Given the description of an element on the screen output the (x, y) to click on. 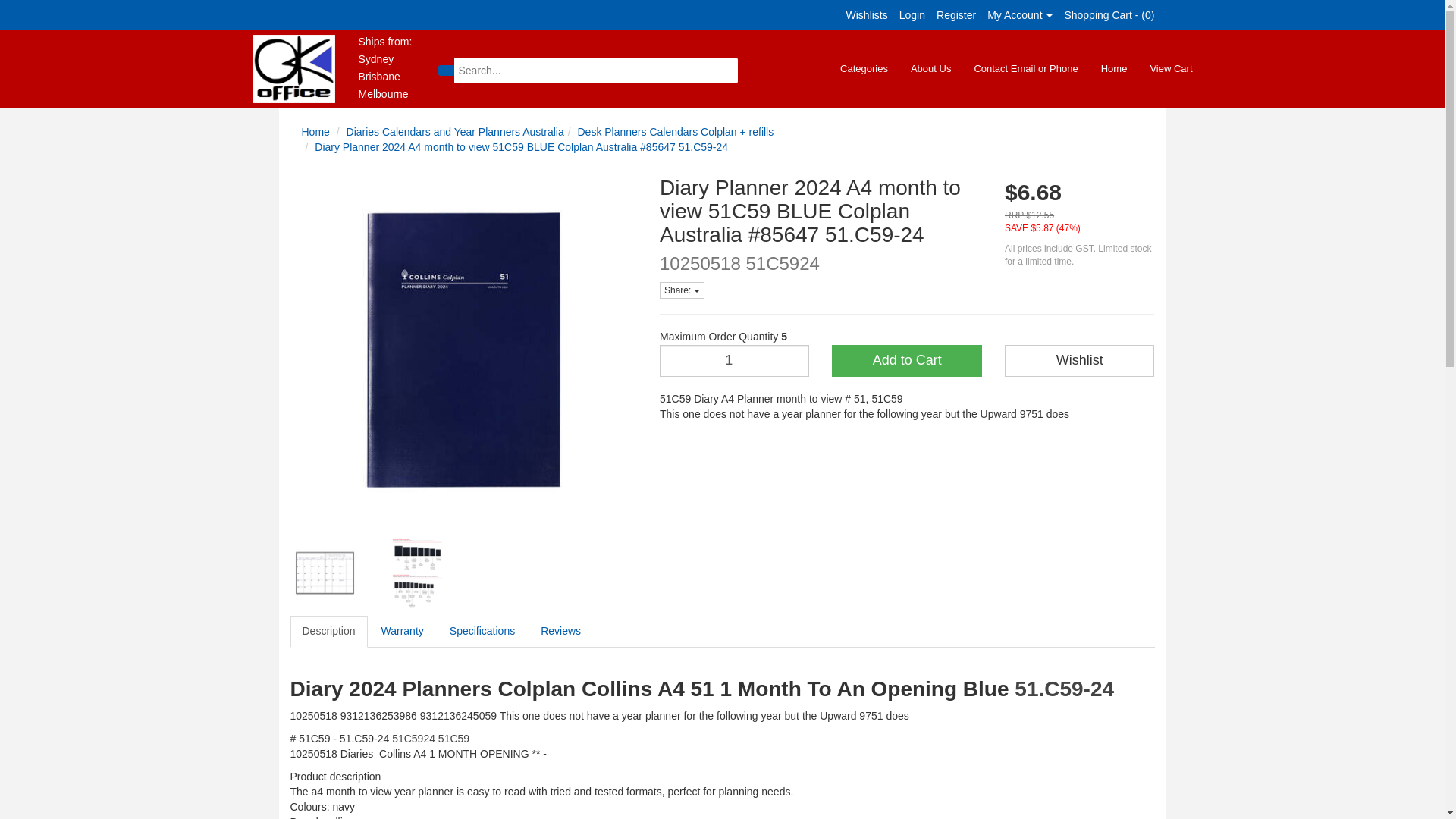
Register (955, 15)
My Account (1019, 15)
Contact Email or Phone (1025, 69)
Register (955, 15)
Large View (324, 573)
Home (315, 132)
Login (911, 15)
Large View (416, 573)
Add to Cart (906, 360)
Wishlists (866, 15)
Search (446, 70)
Share: (681, 289)
Categories (863, 69)
Diaries Calendars and Year Planners Australia (455, 132)
1 (734, 360)
